Given the description of an element on the screen output the (x, y) to click on. 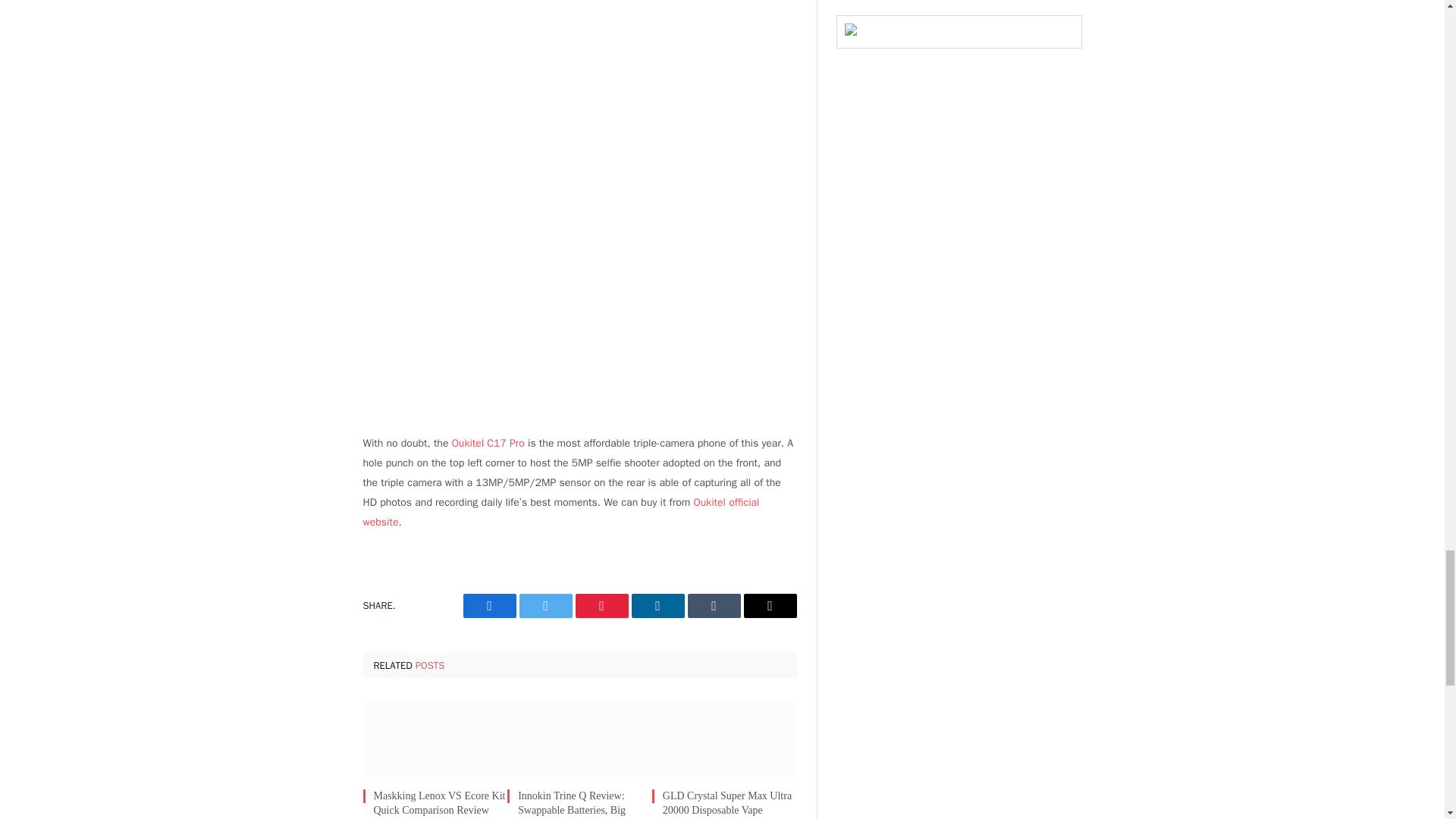
Share on Facebook (489, 605)
Share on Twitter (545, 605)
Share on Pinterest (601, 605)
